Given the description of an element on the screen output the (x, y) to click on. 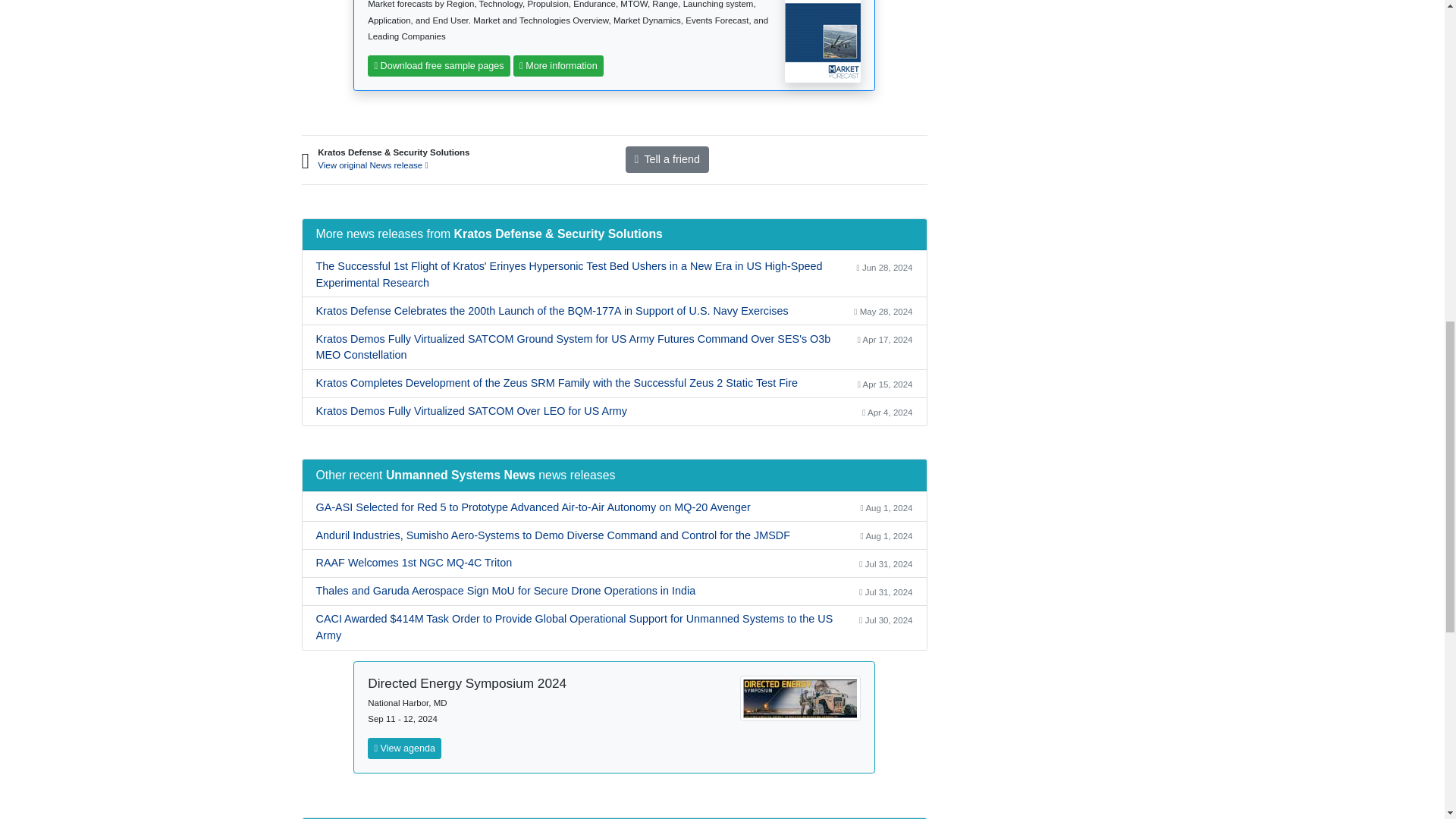
Download free sample pages (439, 65)
